Given the description of an element on the screen output the (x, y) to click on. 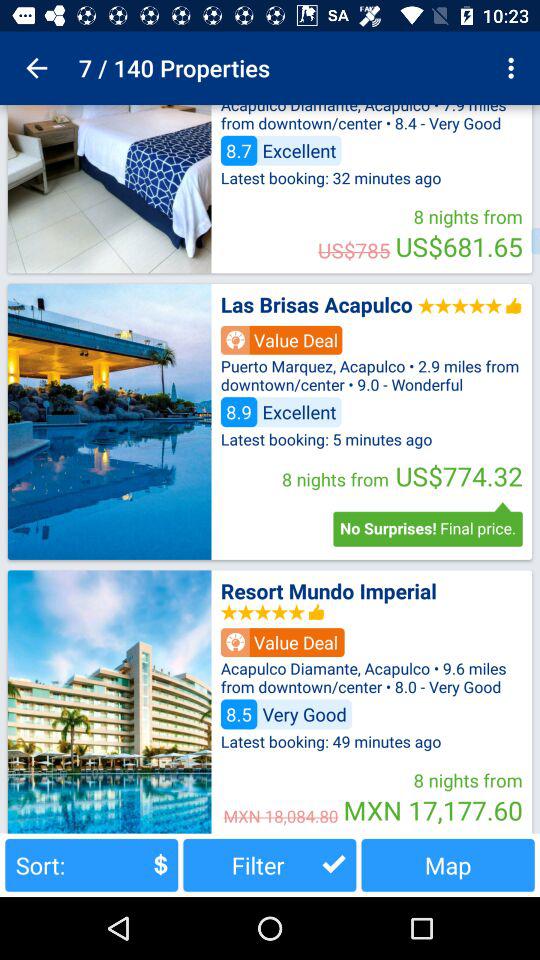
press the button to the right of filter (447, 864)
